Given the description of an element on the screen output the (x, y) to click on. 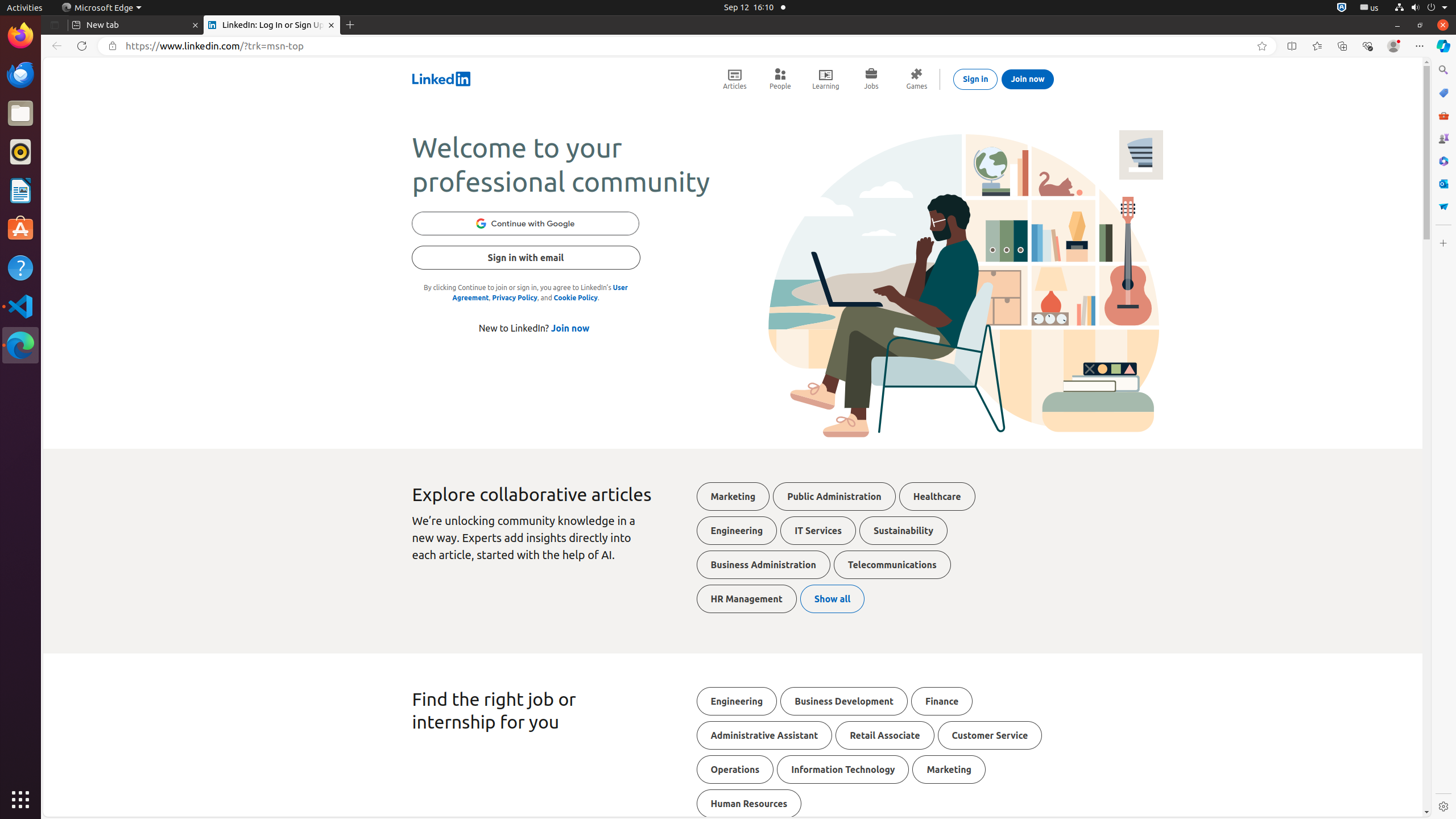
Outlook Element type: push-button (1443, 183)
Profile 1 Profile, Please sign in Element type: push-button (1392, 46)
Refresh Element type: push-button (81, 45)
Tab actions menu Element type: push-button (54, 24)
Thunderbird Mail Element type: push-button (20, 74)
